Given the description of an element on the screen output the (x, y) to click on. 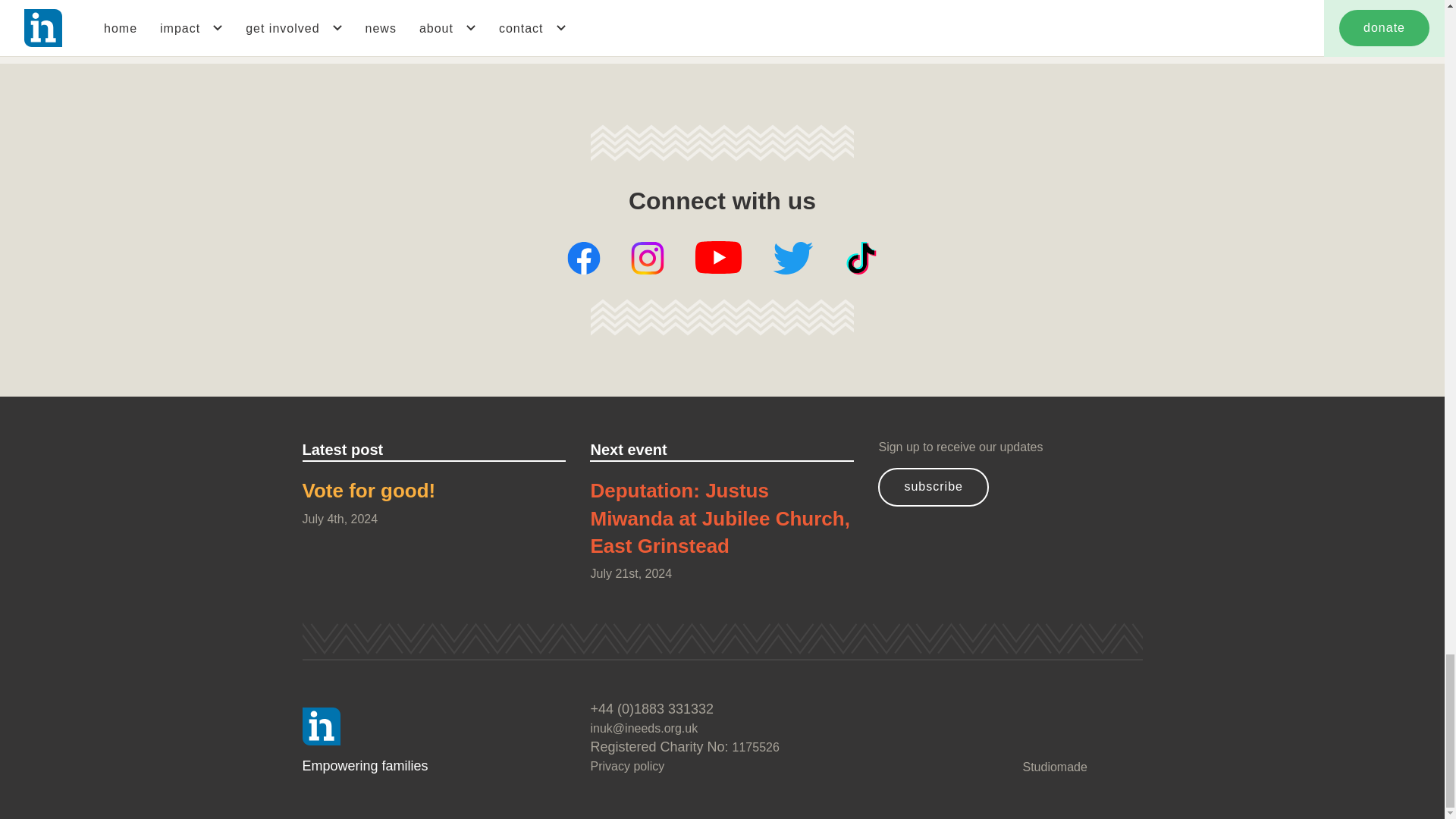
subscribe (932, 486)
Vote for good! (433, 493)
July 4th, 2024 (433, 519)
July 21st, 2024 (721, 573)
Deputation: Justus Miwanda at Jubilee Church, East Grinstead (721, 520)
